Given the description of an element on the screen output the (x, y) to click on. 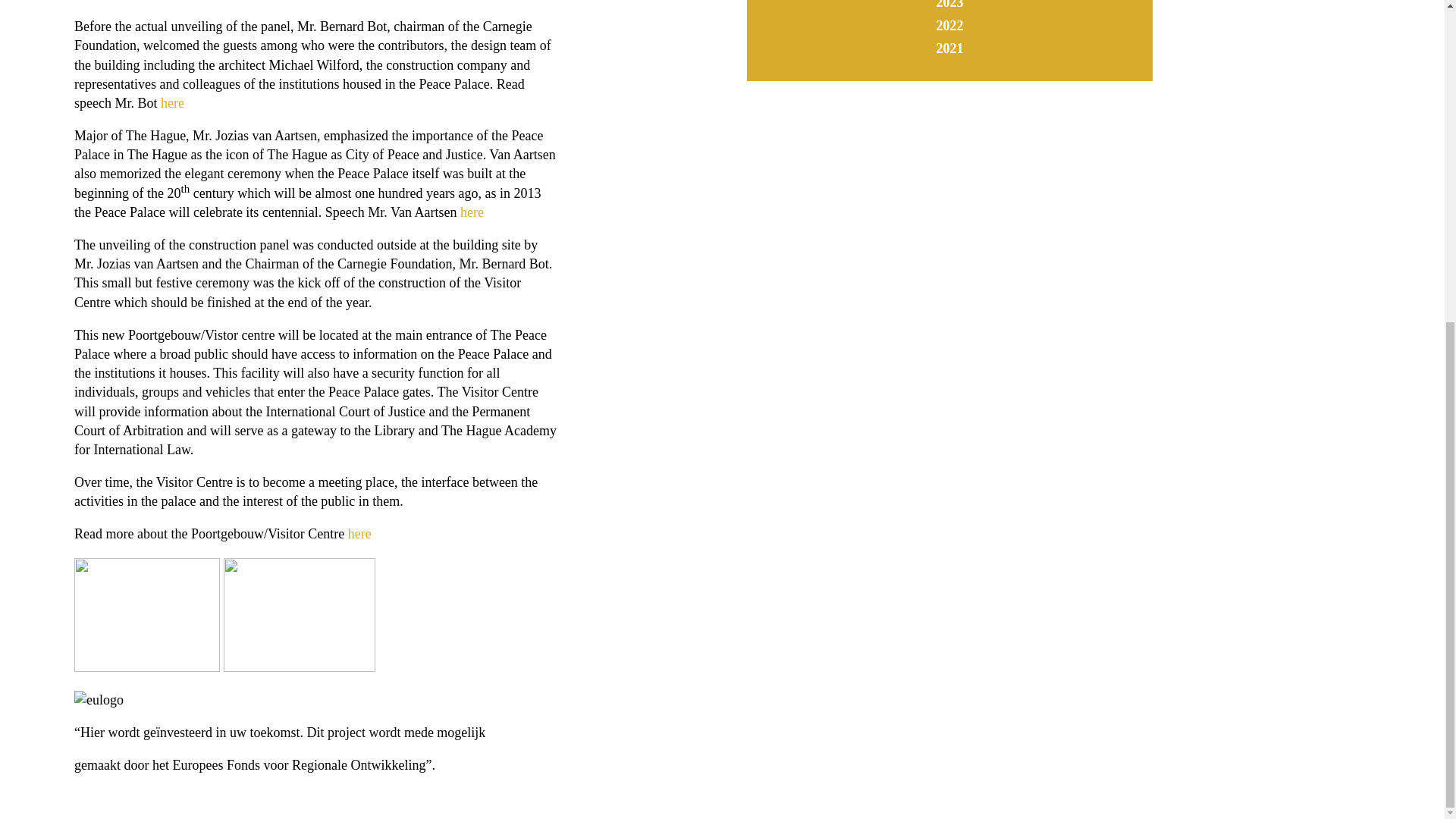
eu (98, 700)
here (471, 212)
here (172, 102)
